Given the description of an element on the screen output the (x, y) to click on. 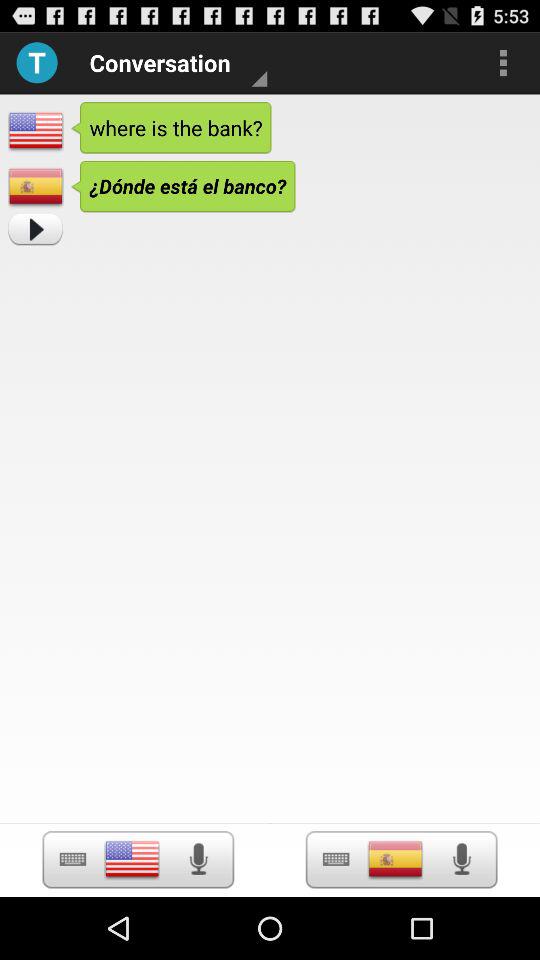
activate english microphone (198, 859)
